Given the description of an element on the screen output the (x, y) to click on. 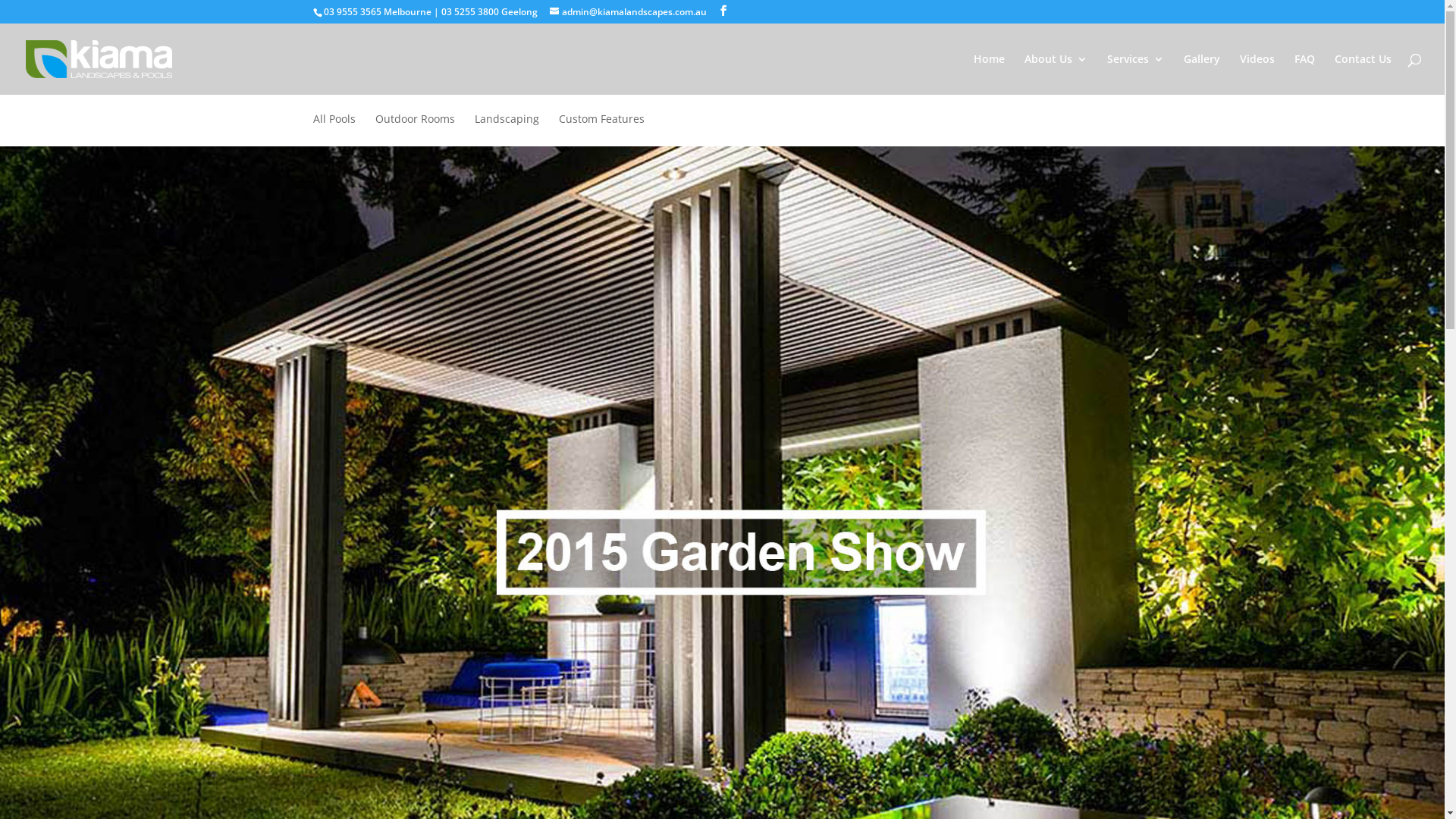
Home Element type: text (988, 73)
Outdoor Rooms Element type: text (414, 129)
admin@kiamalandscapes.com.au Element type: text (627, 11)
Custom Features Element type: text (600, 129)
Landscaping Element type: text (506, 129)
Gallery Element type: text (1201, 73)
All Pools Element type: text (333, 129)
About Us Element type: text (1055, 73)
FAQ Element type: text (1304, 73)
Videos Element type: text (1256, 73)
Services Element type: text (1135, 73)
Contact Us Element type: text (1362, 73)
